Given the description of an element on the screen output the (x, y) to click on. 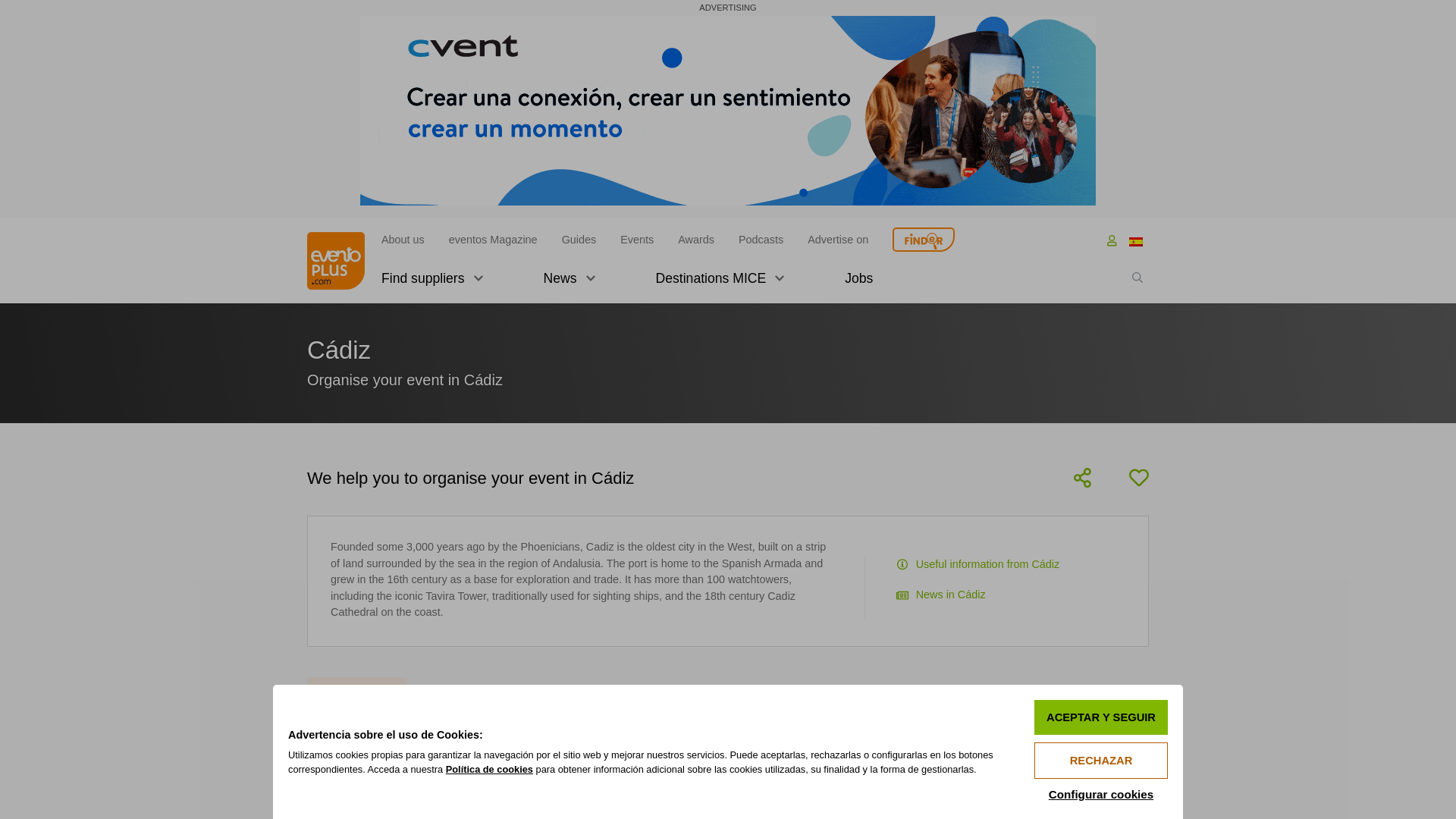
eventos Magazine (492, 239)
Ir a inicio. eventoplus.com (341, 260)
Need help? (923, 239)
Advertise on (837, 239)
About us (403, 239)
Find suppliers (432, 285)
Guides (579, 239)
Events (636, 239)
FINDER (923, 239)
Awards (696, 239)
Podcasts (760, 239)
